Given the description of an element on the screen output the (x, y) to click on. 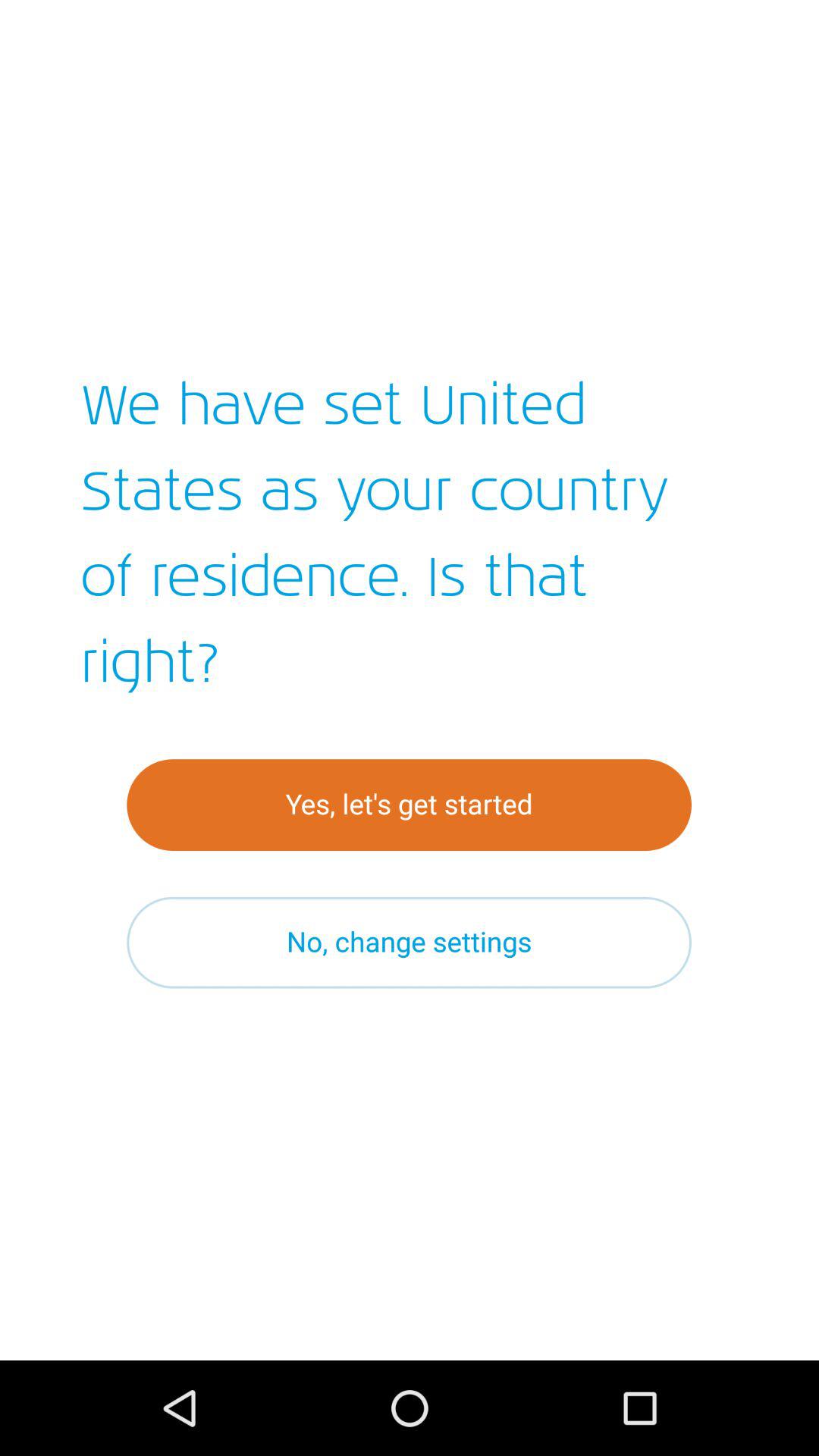
select icon above the no, change settings item (408, 804)
